Given the description of an element on the screen output the (x, y) to click on. 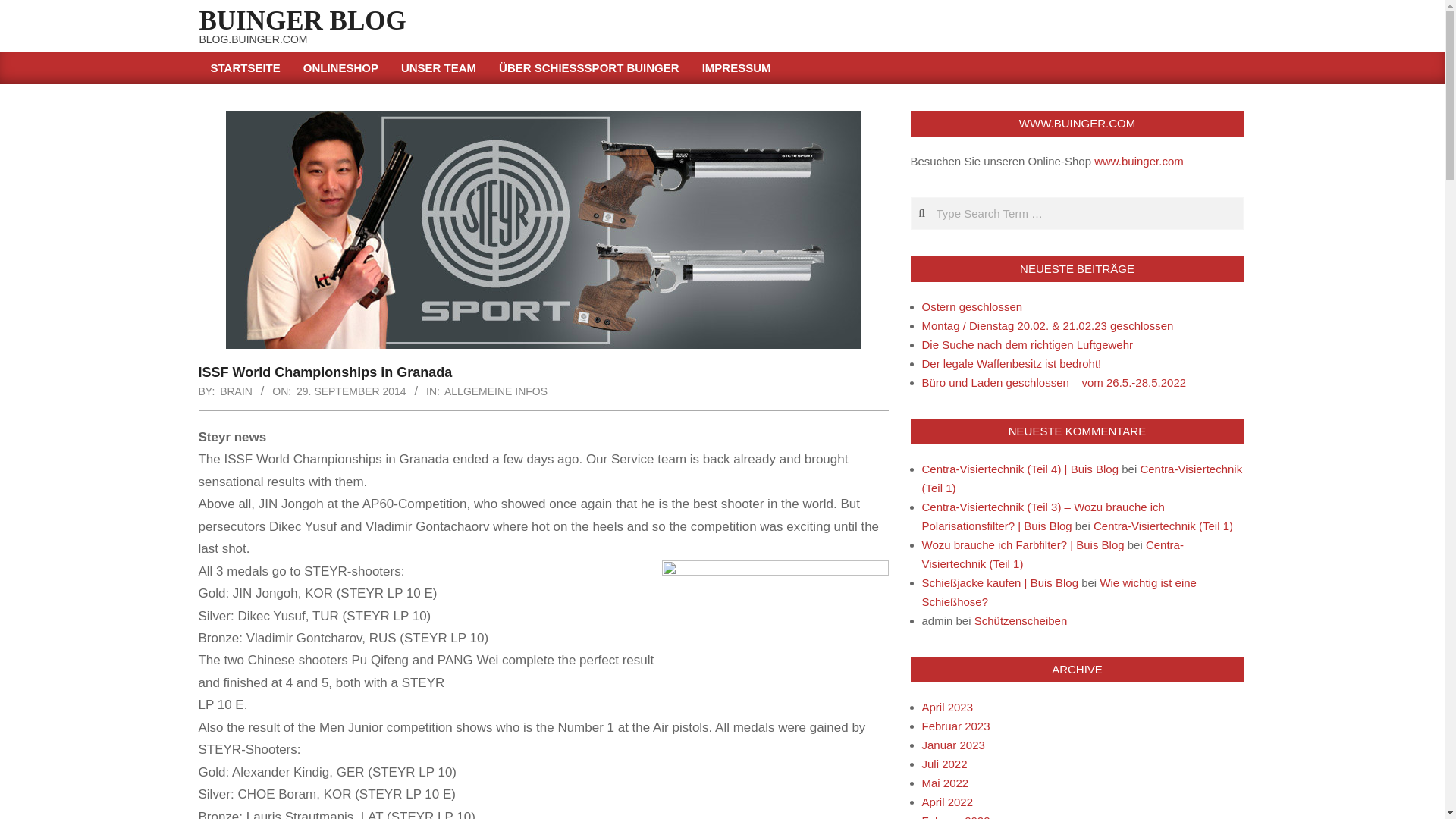
ALLGEMEINE INFOS (495, 390)
Ostern geschlossen (972, 306)
IMPRESSUM (736, 68)
April 2023 (947, 707)
ONLINESHOP (341, 68)
UNSER TEAM (438, 68)
STARTSEITE (244, 68)
Montag, September 29, 2014, 11:37 am (351, 390)
Der legale Waffenbesitz ist bedroht! (1011, 363)
BUINGER BLOG (302, 20)
Die Suche nach dem richtigen Luftgewehr (1027, 344)
Februar 2023 (955, 725)
www.buinger.com (1138, 160)
BRAIN (235, 390)
